Given the description of an element on the screen output the (x, y) to click on. 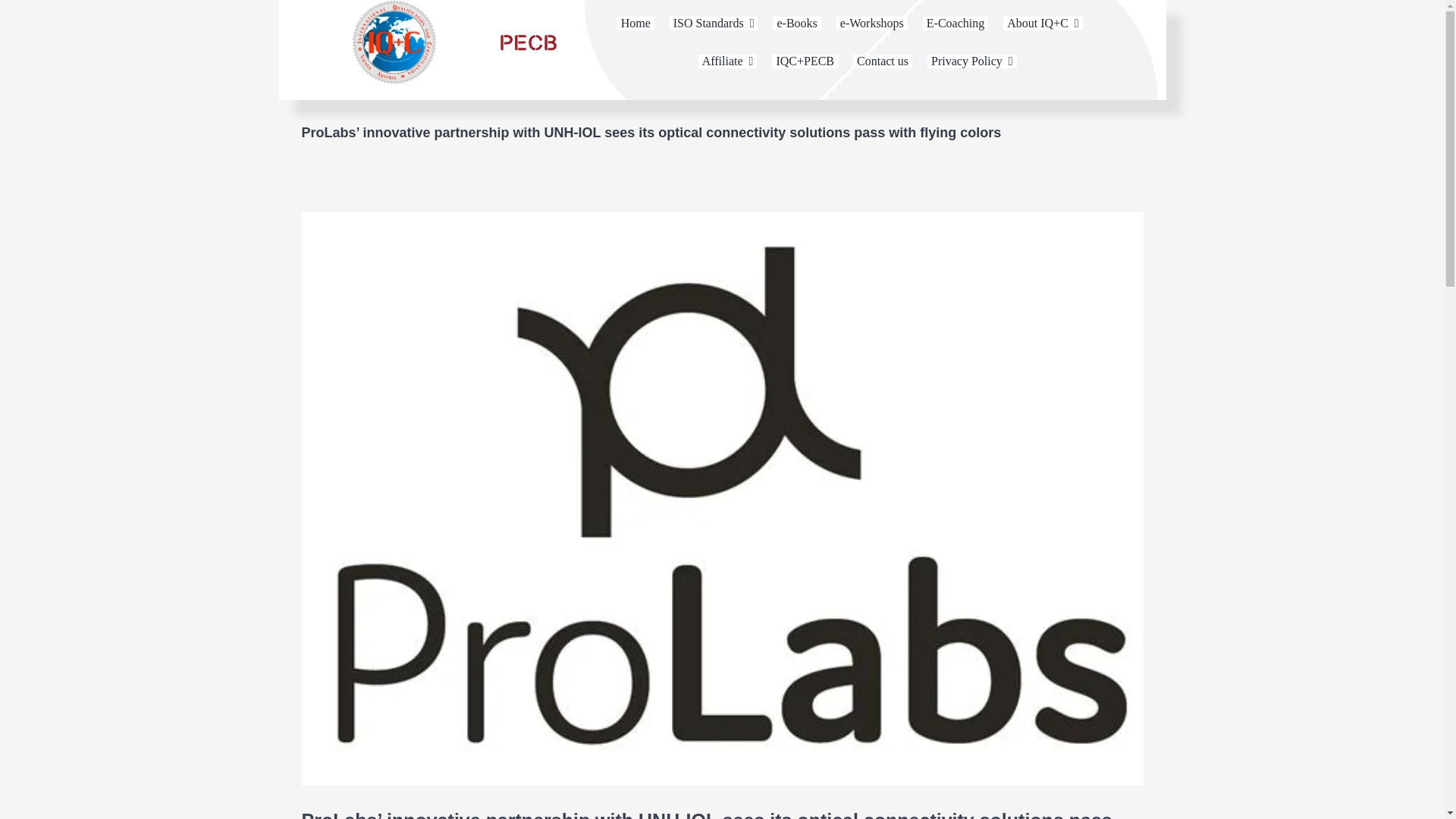
e-Books (797, 23)
iqc new (394, 42)
e-Workshops (871, 23)
ISO Standards (713, 23)
pecb logo (524, 42)
E-Coaching (955, 23)
Home (635, 23)
